Given the description of an element on the screen output the (x, y) to click on. 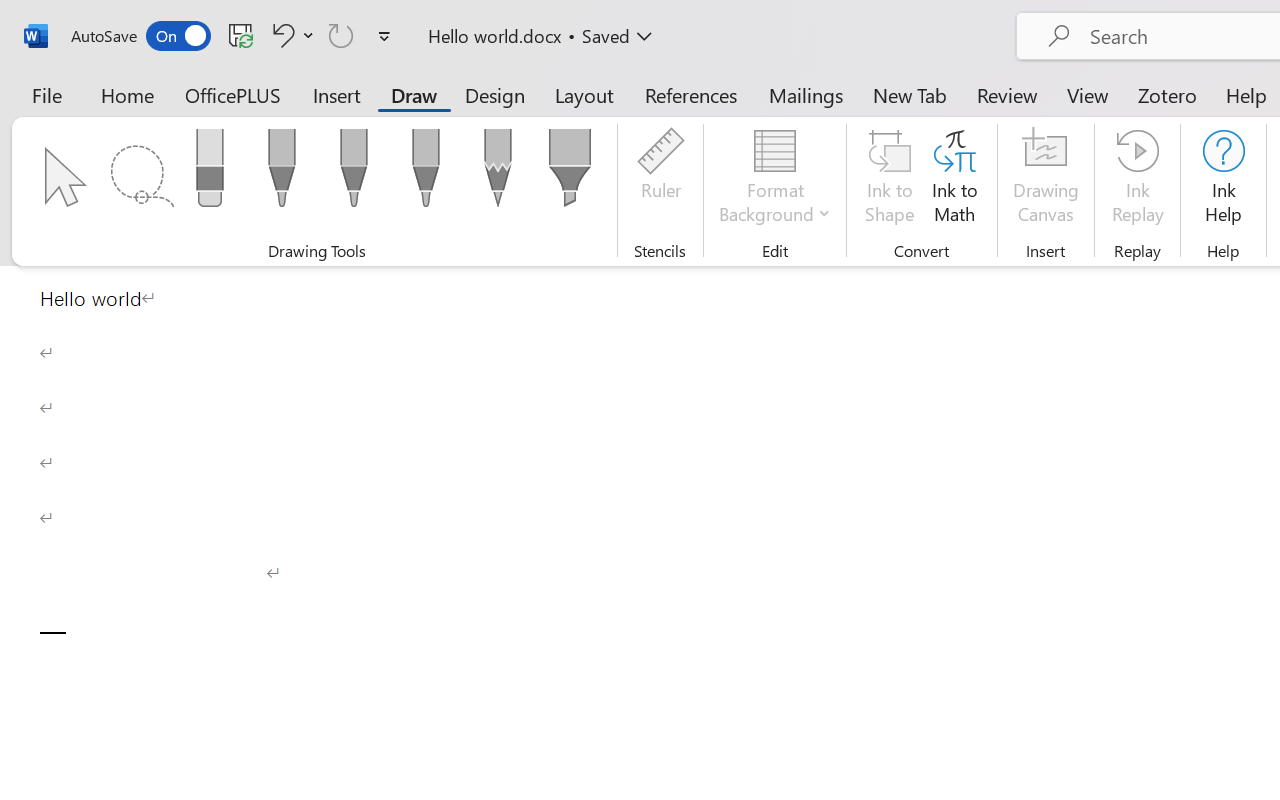
Mailings (806, 94)
Pen: Galaxy, 1 mm (426, 173)
Quick Access Toolbar (233, 36)
Ink Help (1223, 179)
Pen: Black, 0.5 mm (281, 173)
Format Background (774, 179)
Zotero (1166, 94)
More Options (308, 35)
Home (127, 94)
Pencil: Gray, 1 mm (497, 173)
Save (241, 35)
Pen: Red, 0.5 mm (353, 173)
New Tab (909, 94)
